Given the description of an element on the screen output the (x, y) to click on. 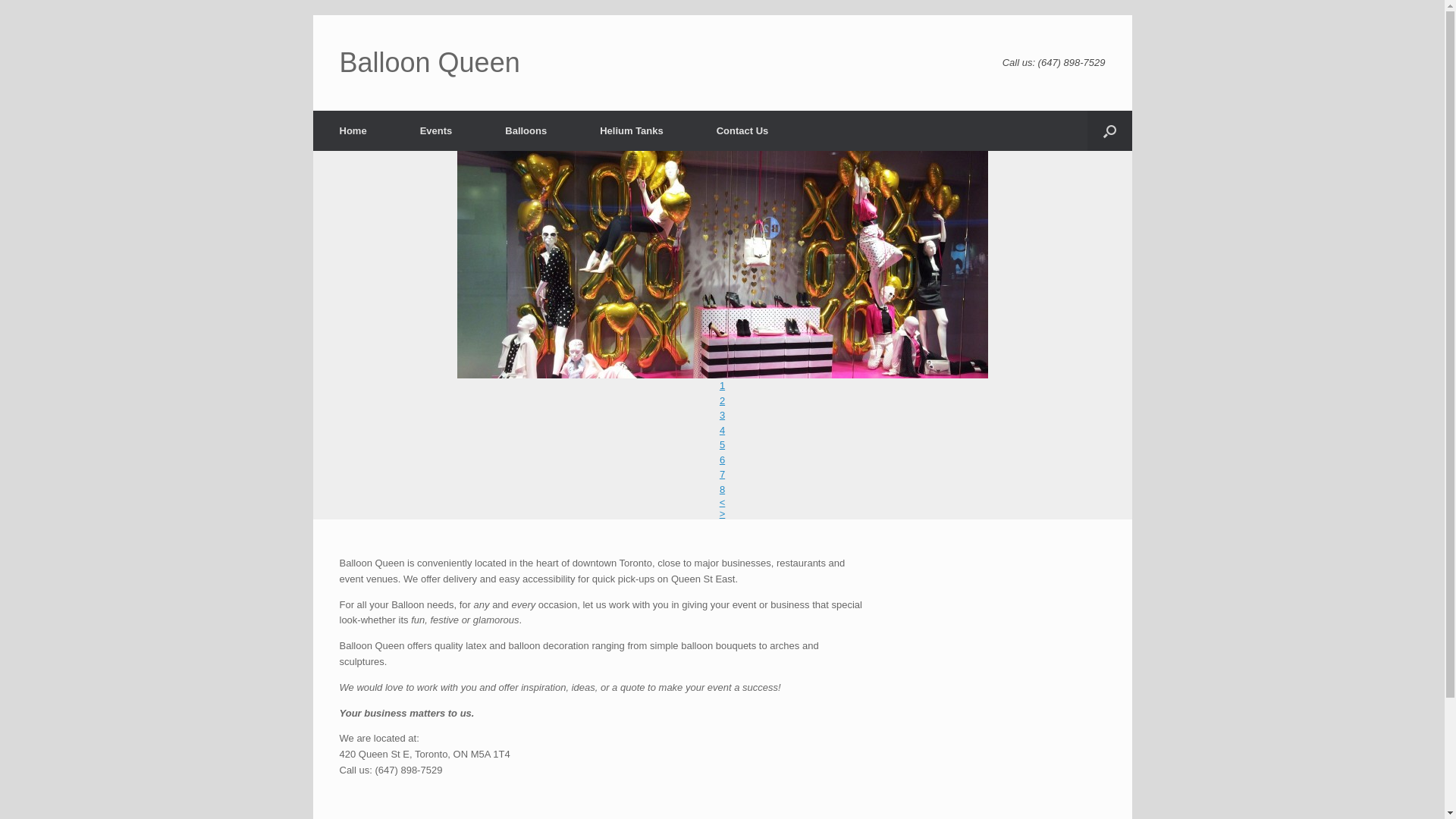
6 Element type: text (721, 458)
Events Element type: text (436, 130)
4 Element type: text (721, 430)
Balloon Queen Element type: text (429, 62)
8 Element type: text (721, 489)
7 Element type: text (721, 474)
Skip to content Element type: text (312, 14)
Contact Us Element type: text (742, 130)
2 Element type: text (721, 399)
> Element type: text (722, 513)
Helium Tanks Element type: text (631, 130)
3 Element type: text (721, 414)
Balloons Element type: text (525, 130)
Home Element type: text (352, 130)
5 Element type: text (721, 444)
< Element type: text (722, 502)
1 Element type: text (721, 385)
